Given the description of an element on the screen output the (x, y) to click on. 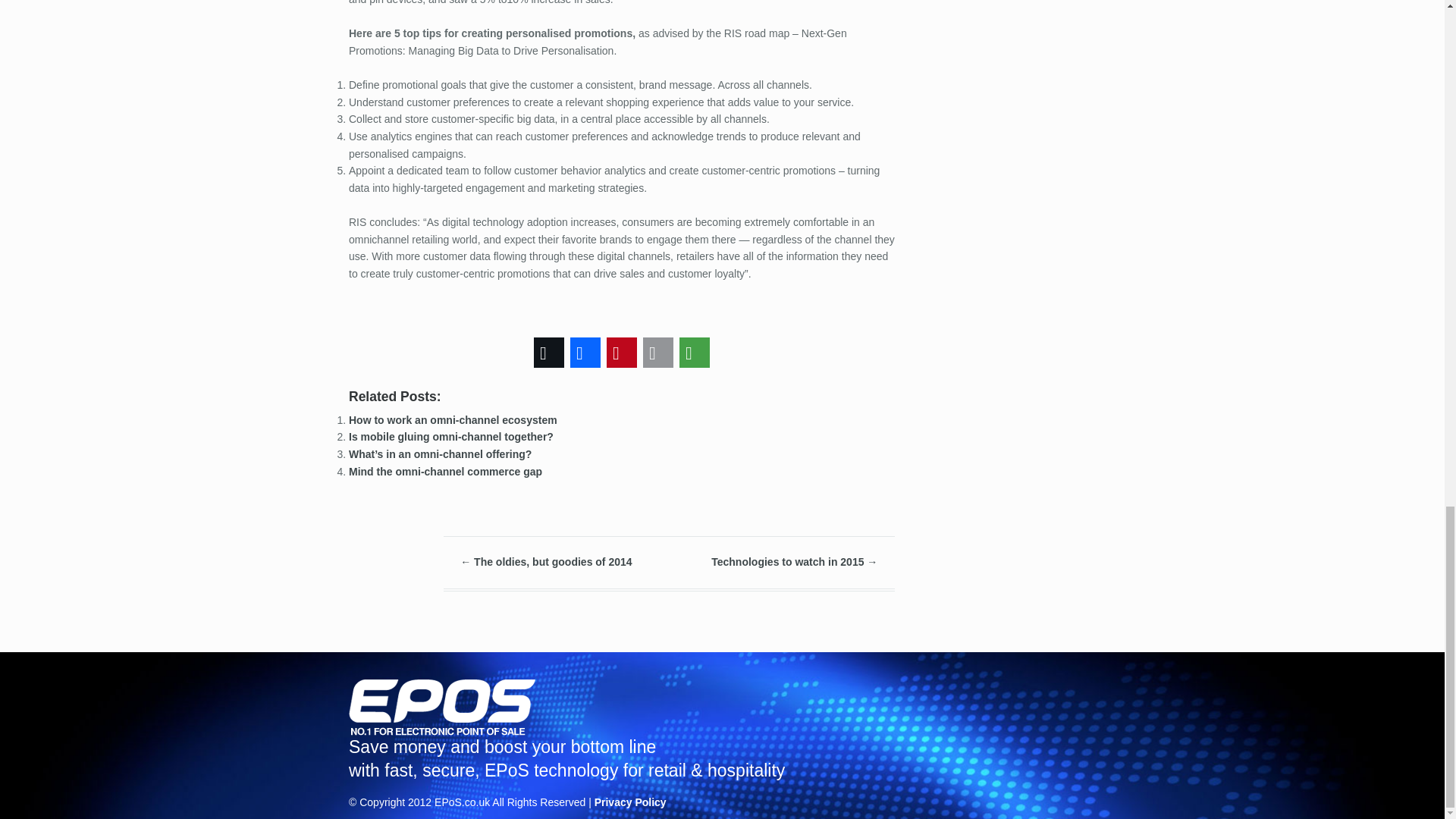
Facebook (585, 352)
Pinterest (622, 352)
Is mobile gluing omni-channel together? (451, 436)
Is mobile gluing omni-channel together? (451, 436)
How to work an omni-channel ecosystem (453, 419)
How to work an omni-channel ecosystem (453, 419)
More Options (695, 352)
Mind the omni-channel commerce gap (445, 470)
Mind the omni-channel commerce gap (445, 470)
Email This (658, 352)
